Given the description of an element on the screen output the (x, y) to click on. 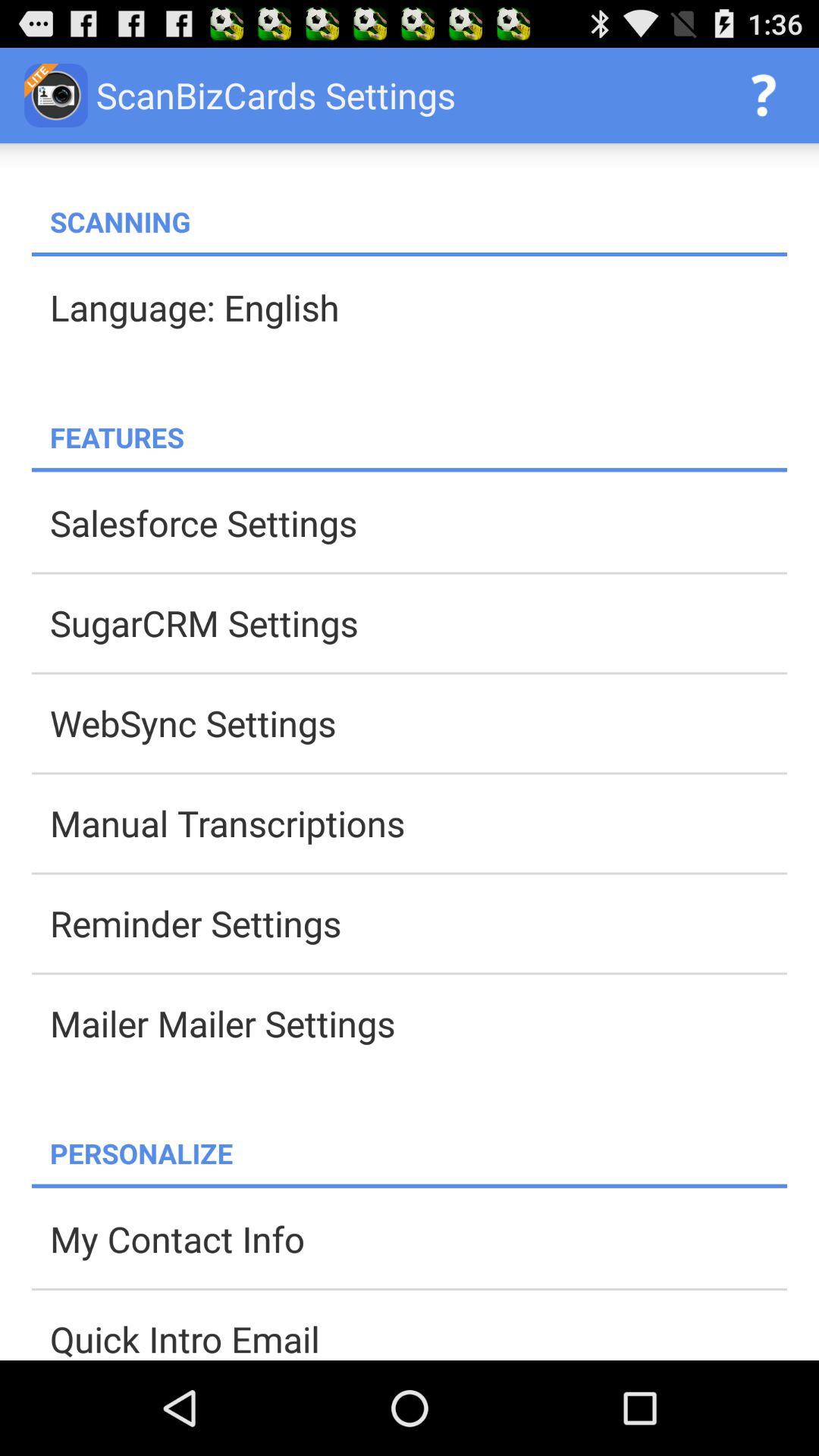
turn on websync settings icon (418, 722)
